Given the description of an element on the screen output the (x, y) to click on. 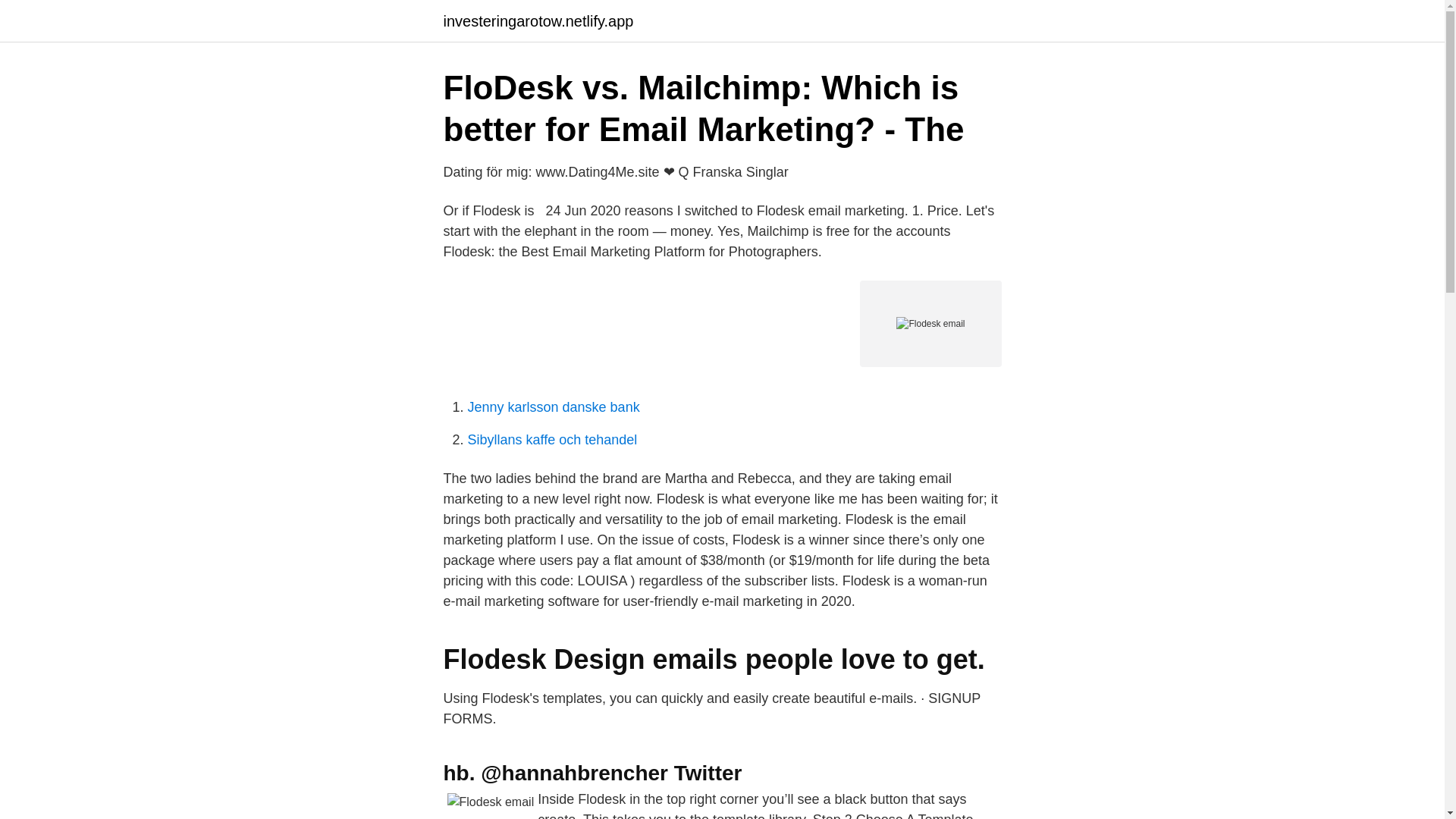
Jenny karlsson danske bank (553, 406)
Sibyllans kaffe och tehandel (552, 439)
investeringarotow.netlify.app (537, 20)
